Given the description of an element on the screen output the (x, y) to click on. 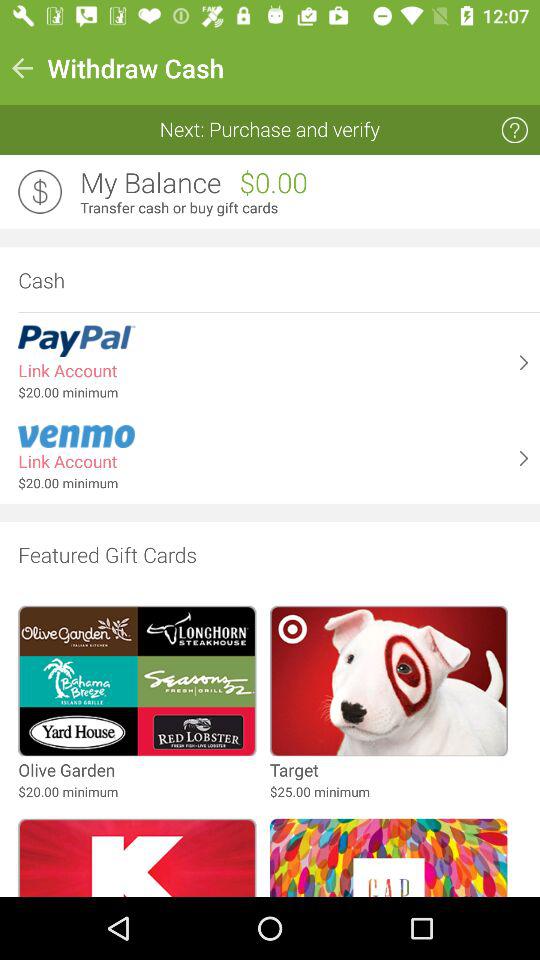
choose the withdraw cash icon (135, 67)
